Given the description of an element on the screen output the (x, y) to click on. 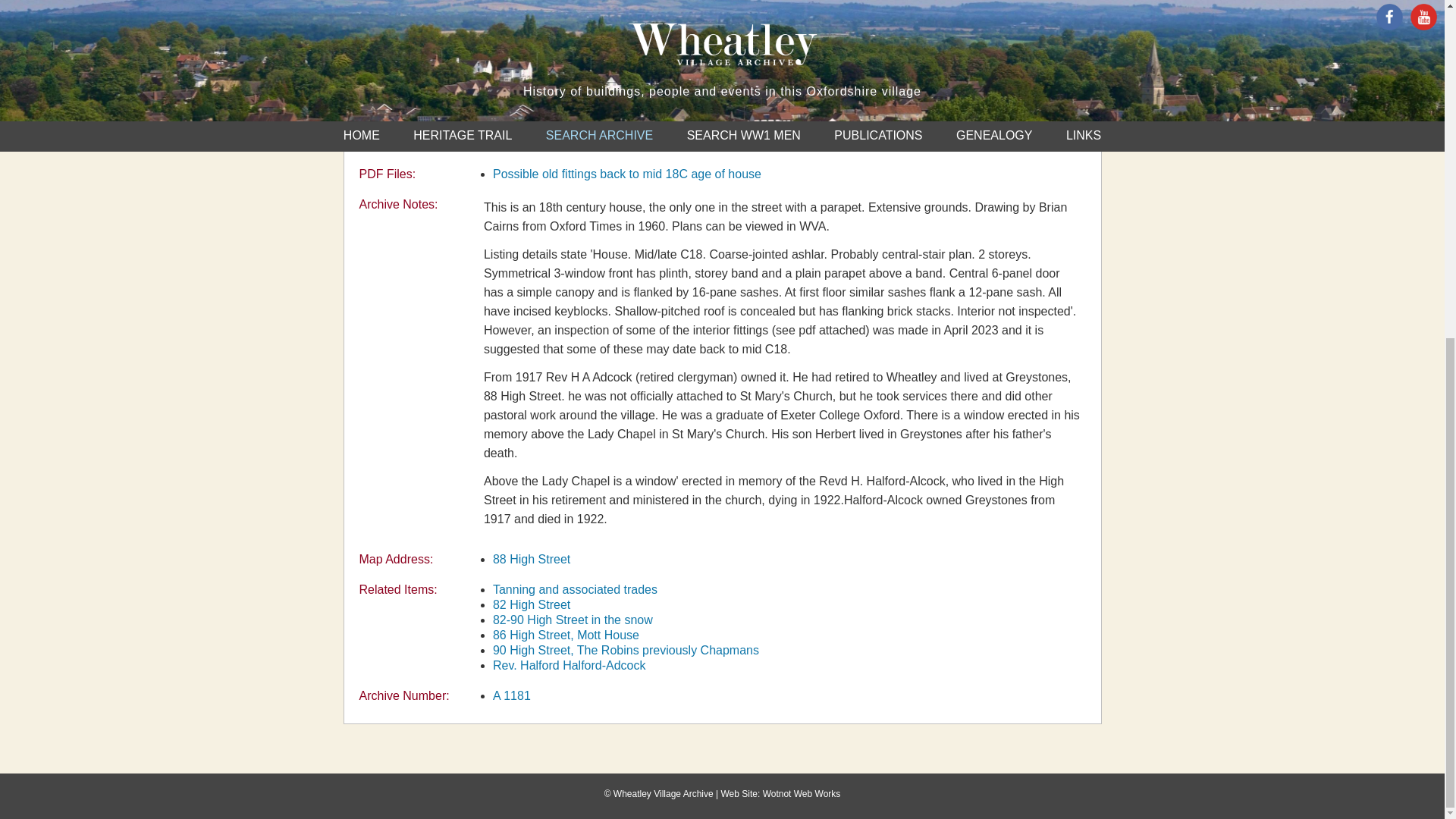
82 High Street (531, 604)
2 (729, 141)
Rev. Halford Halford-Adcock (569, 665)
88 High Street (531, 558)
Possible old fittings back to mid 18C age of house (627, 173)
82-90 High Street in the snow (572, 619)
A 1181 (512, 695)
1 (702, 141)
86 High Street, Mott House (566, 634)
90 High Street, The Robins previously Chapmans (625, 649)
82 High Street (531, 604)
88 High Street (531, 558)
90 High Street, The Robins previously Chapmans (625, 649)
88 High Street, Greystones (512, 695)
82-90 High Street in the snow (572, 619)
